Given the description of an element on the screen output the (x, y) to click on. 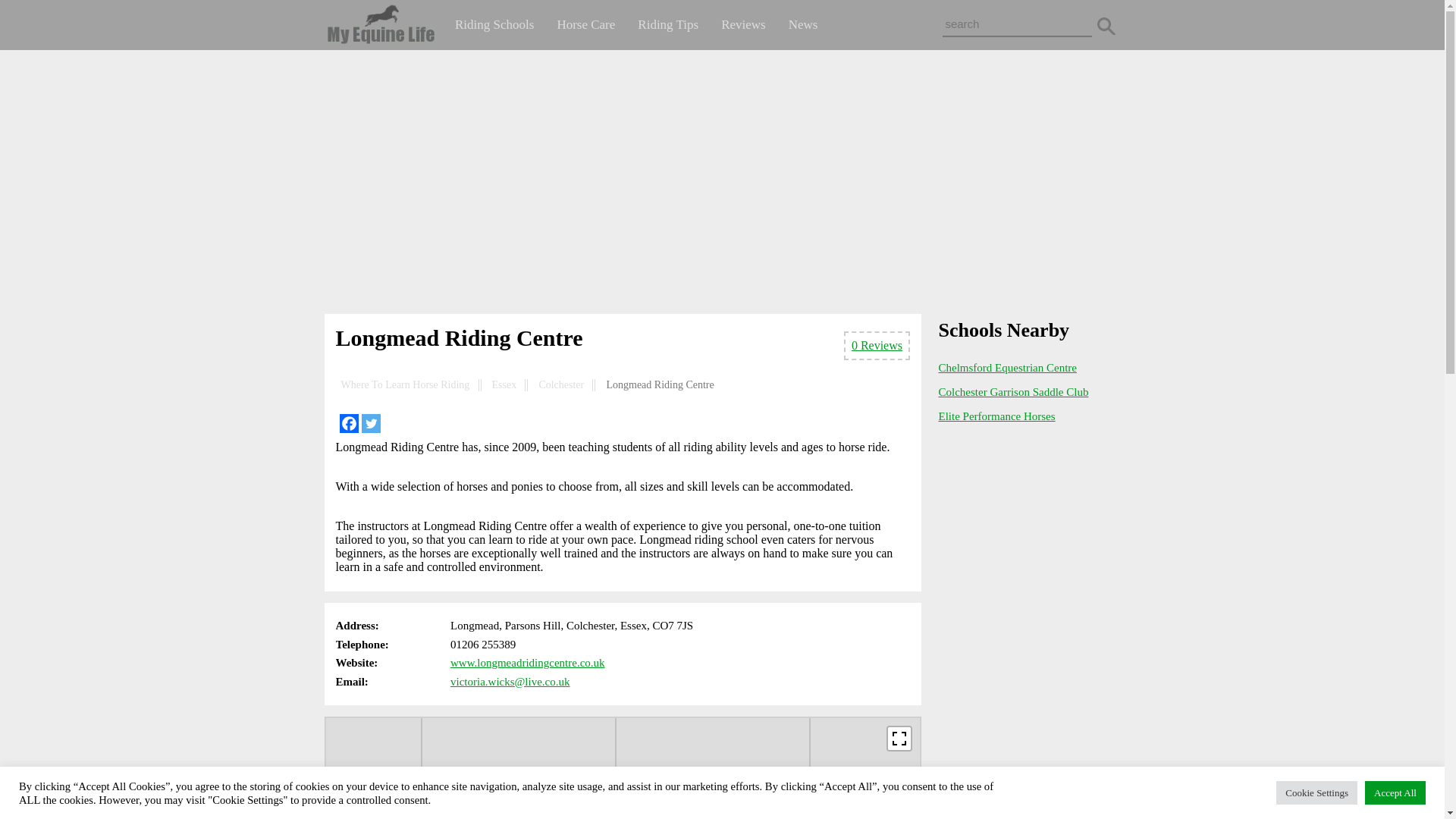
Where To Learn Horse Riding (405, 385)
Colchester (560, 385)
Toggle fullscreen view (899, 738)
0 Reviews (876, 345)
Accept All (1395, 792)
News (803, 23)
Colchester Garrison Saddle Club (1014, 391)
Riding Tips (667, 23)
Cookie Settings (1316, 792)
Facebook (348, 423)
www.longmeadridingcentre.co.uk (527, 662)
Elite Performance Horses (997, 416)
Chelmsford Equestrian Centre (1008, 367)
Horse Care (585, 23)
